Given the description of an element on the screen output the (x, y) to click on. 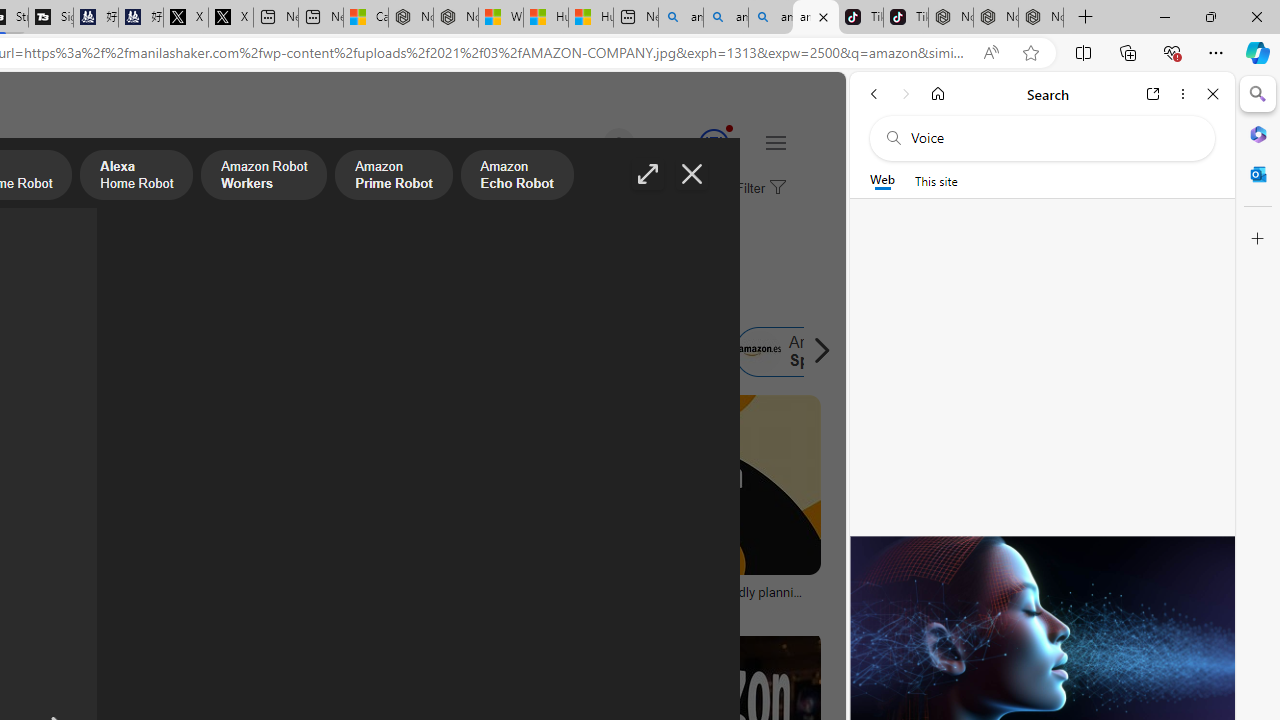
Nordace - Best Sellers (950, 17)
Amazon down? Current status and problems | Downdetector (368, 598)
Settings and quick links (775, 142)
Image result for amazon (685, 485)
theverge.com (685, 606)
Microsoft 365 (1258, 133)
Outlook (1258, 174)
Amazon Spain (800, 351)
Microsoft Rewards 135 (690, 143)
Amazon.com.au (270, 351)
